Given the description of an element on the screen output the (x, y) to click on. 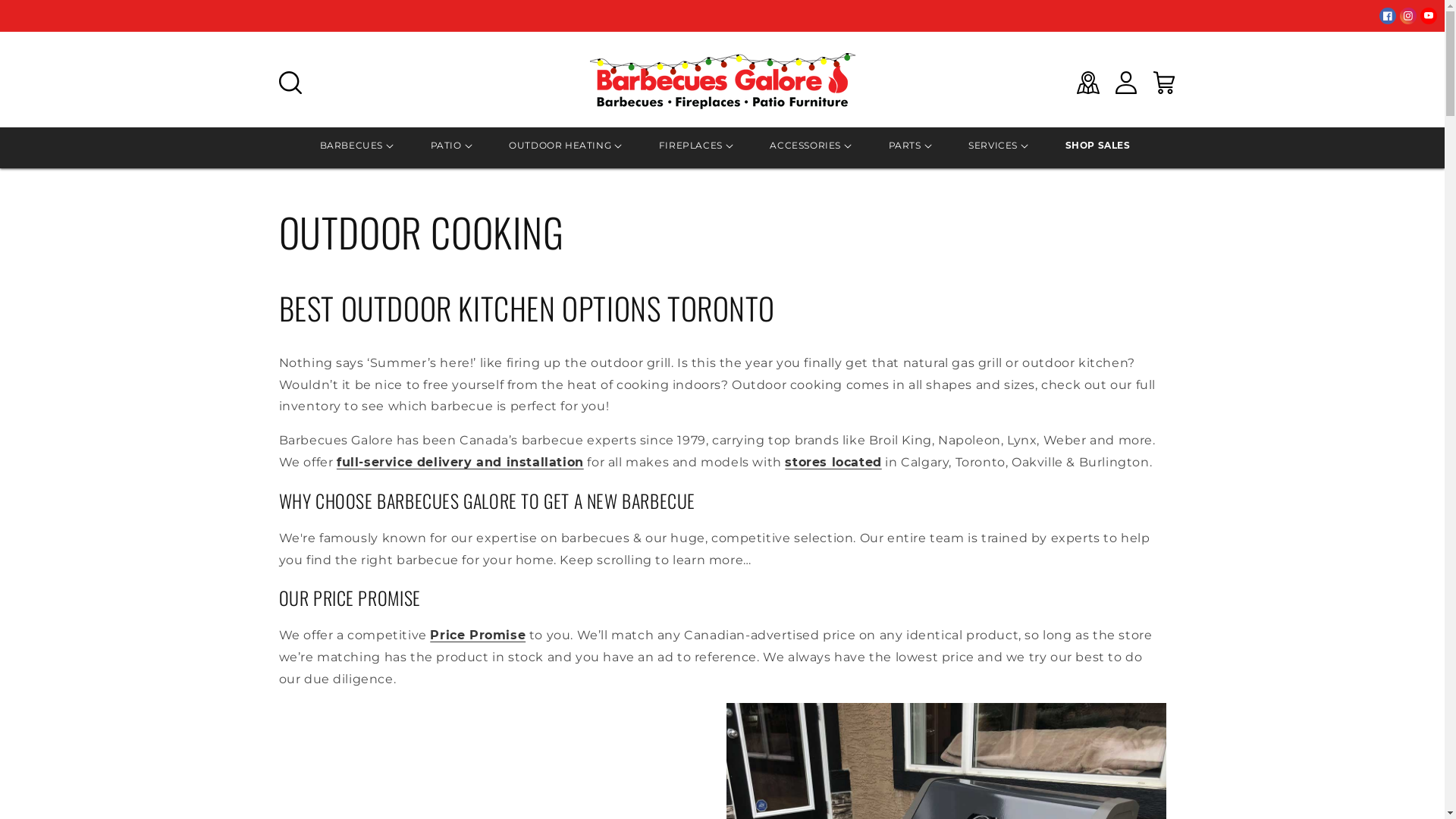
SHOP SALES Element type: text (1097, 144)
ACCESSORIES Element type: text (804, 144)
FIREPLACES Element type: text (690, 144)
Cart Element type: text (1163, 82)
Price Promise Element type: text (477, 634)
Log in Element type: text (1125, 82)
PATIO Element type: text (445, 144)
SERVICES Element type: text (992, 144)
OUTDOOR HEATING Element type: text (559, 144)
Submit Element type: text (21, 7)
BARBECUES Element type: text (351, 144)
full-service delivery and installation Element type: text (459, 462)
stores located Element type: text (832, 462)
PARTS Element type: text (904, 144)
